Given the description of an element on the screen output the (x, y) to click on. 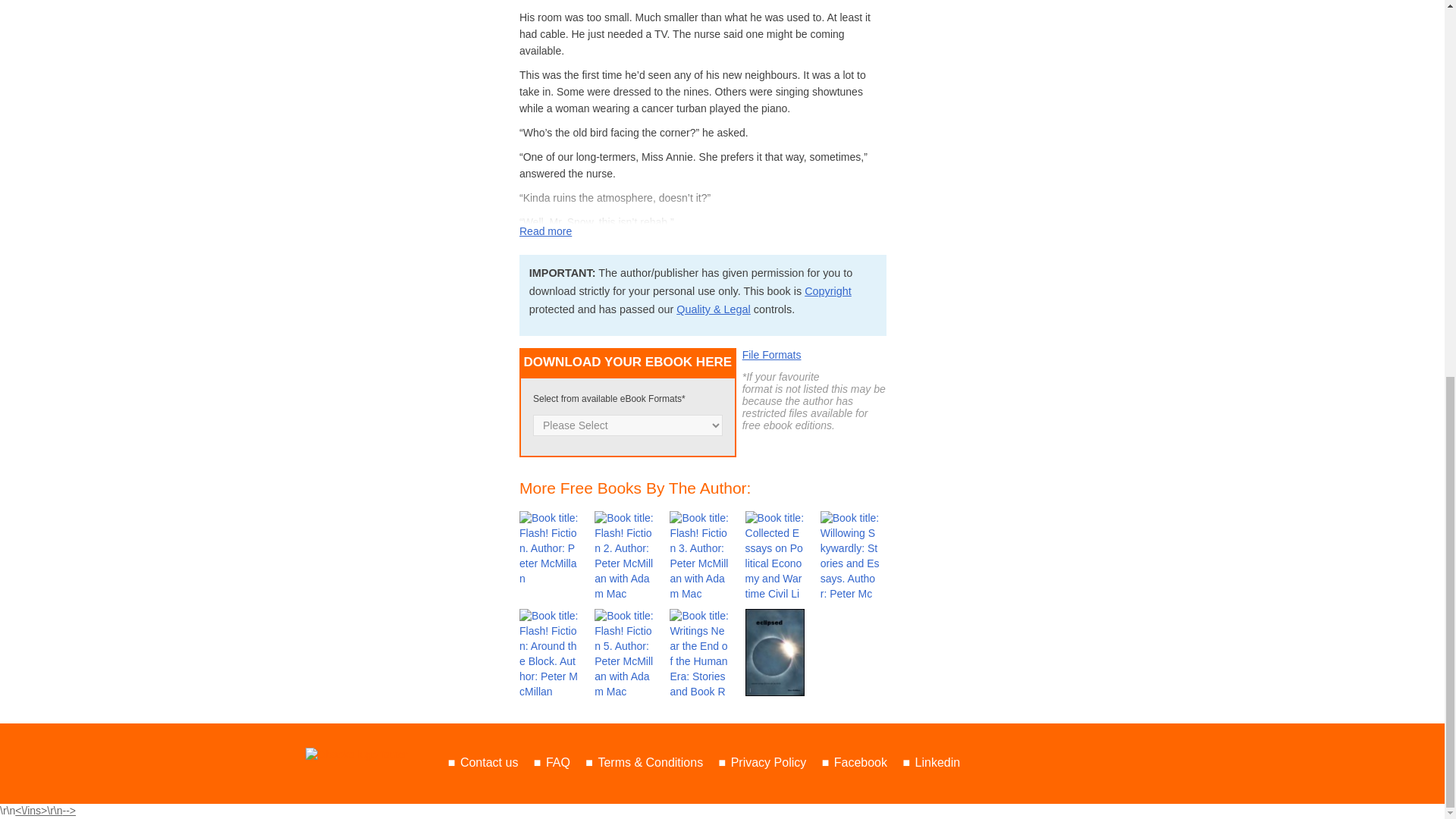
Read more (545, 231)
File Formats (772, 354)
Copyright (828, 291)
Checked for Quality (714, 309)
Protected by Copyright (828, 291)
